Given the description of an element on the screen output the (x, y) to click on. 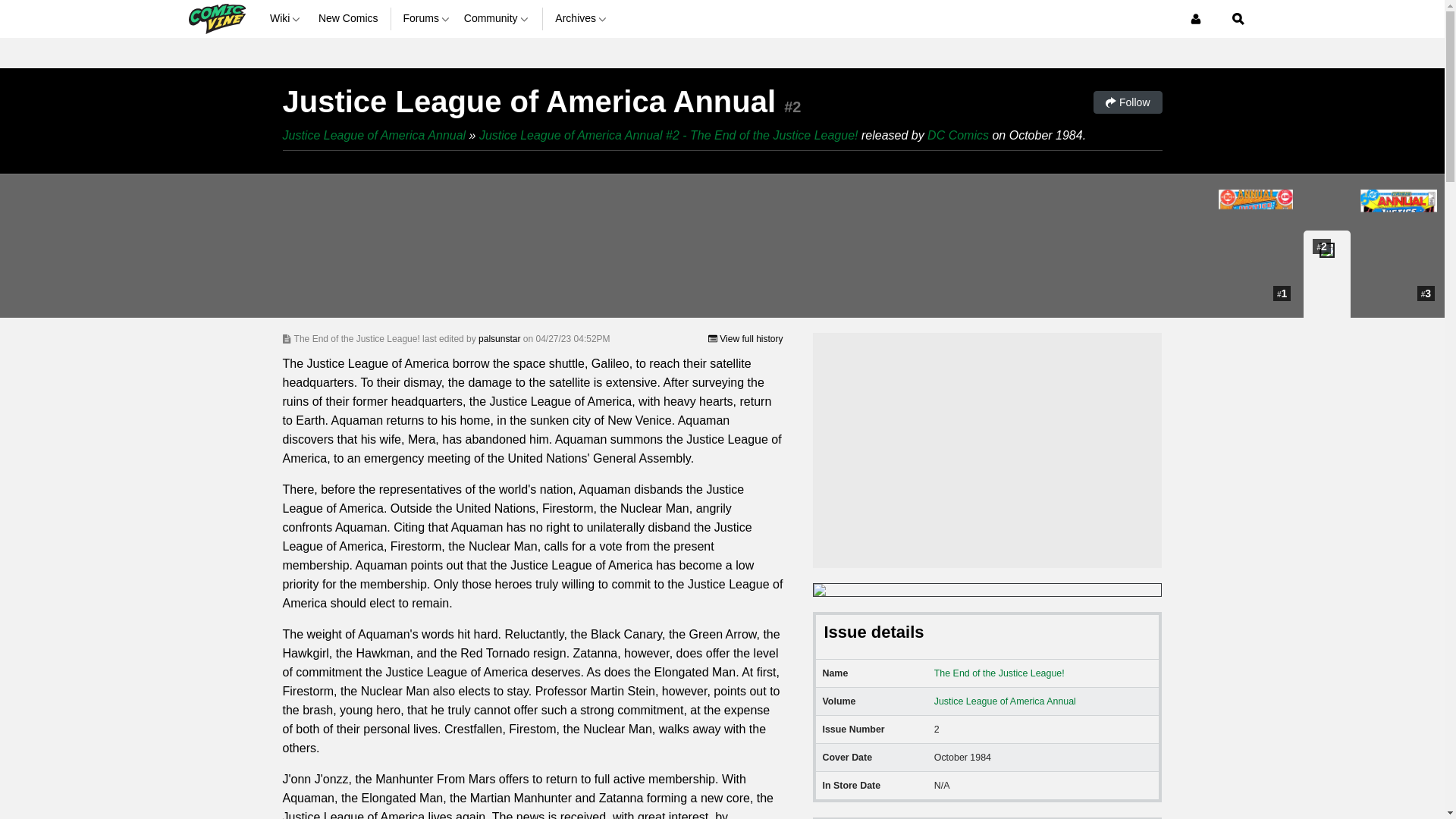
New Comics (348, 18)
Forums (427, 18)
Wiki (287, 18)
Comic Vine (215, 18)
Community (497, 18)
